Given the description of an element on the screen output the (x, y) to click on. 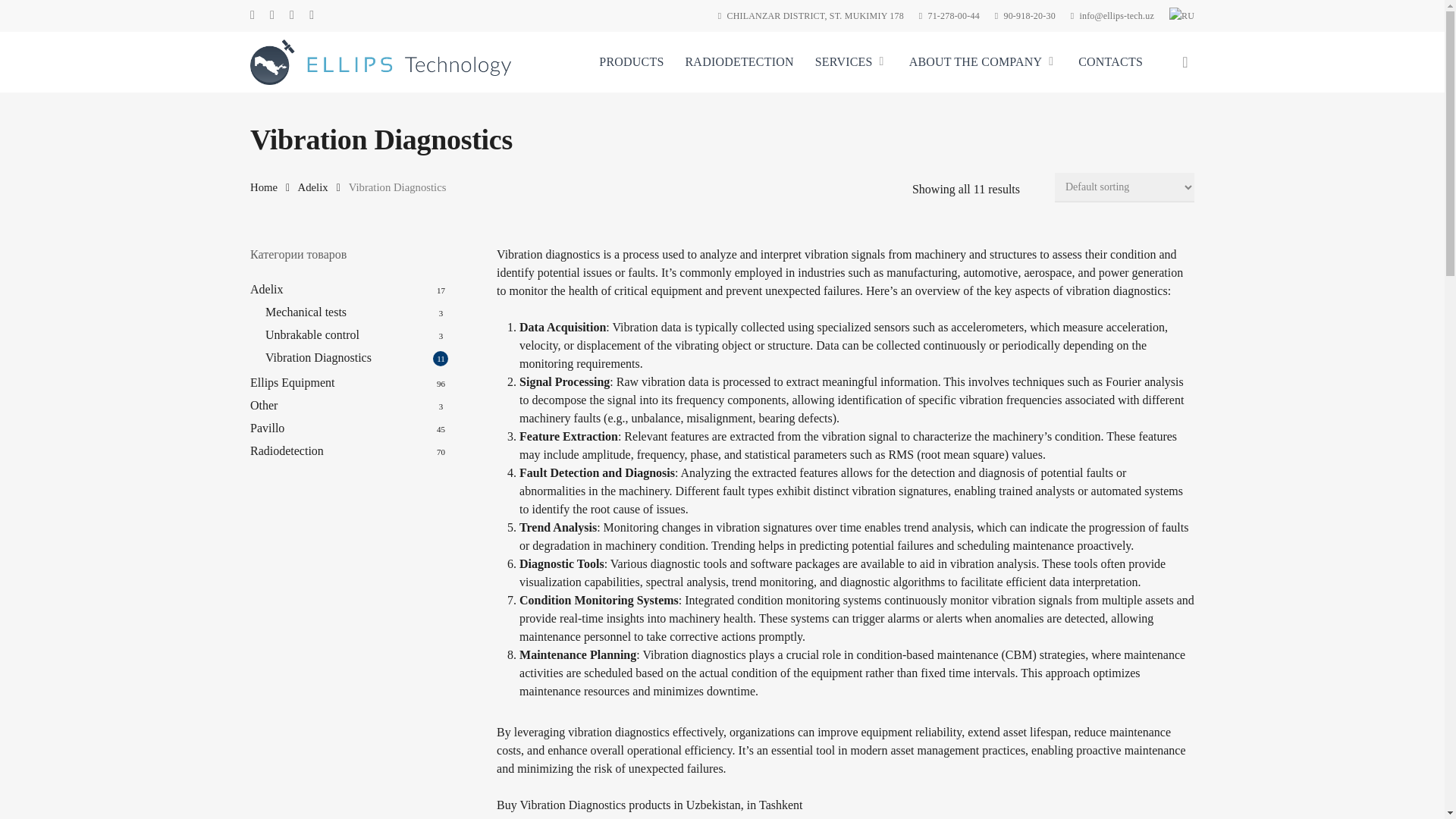
ABOUT THE COMPANY (983, 61)
Radiodetection (349, 451)
Mechanical tests (356, 312)
CONTACTS (1110, 61)
Adelix (313, 187)
71-278-00-44 (948, 15)
Ellips Equipment (349, 382)
Vibration Diagnostics (356, 357)
Pavillo (349, 428)
Other (349, 405)
